Given the description of an element on the screen output the (x, y) to click on. 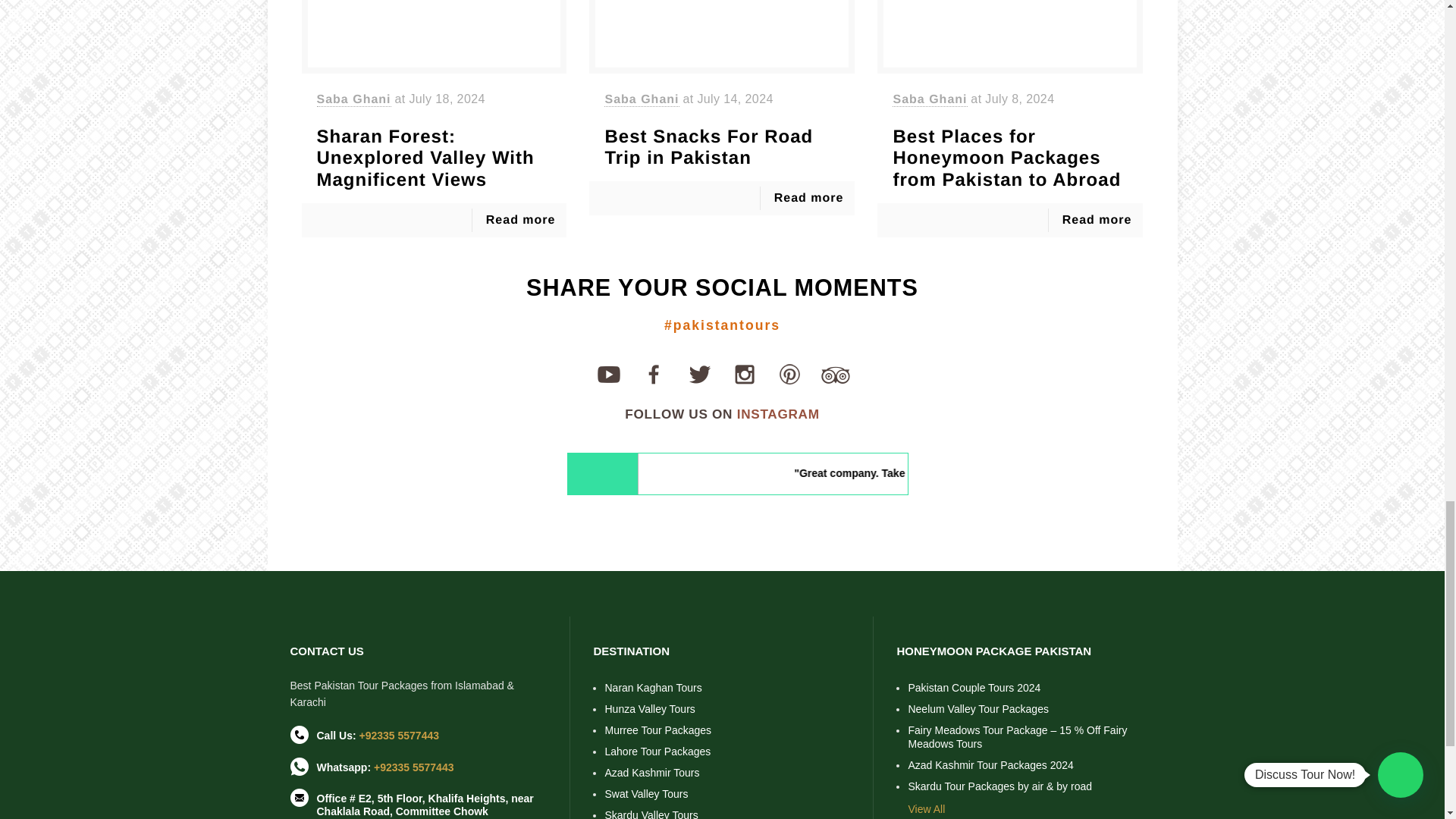
Saba Ghani (641, 100)
Saba Ghani (354, 100)
Saba Ghani (929, 100)
Best Places for Honeymoon Packages from Pakistan to Abroad (1009, 158)
Best Snacks For Road Trip in Pakistan (722, 148)
Read more (521, 219)
Read more (809, 197)
Sharan Forest: Unexplored Valley With Magnificent Views (434, 158)
